Given the description of an element on the screen output the (x, y) to click on. 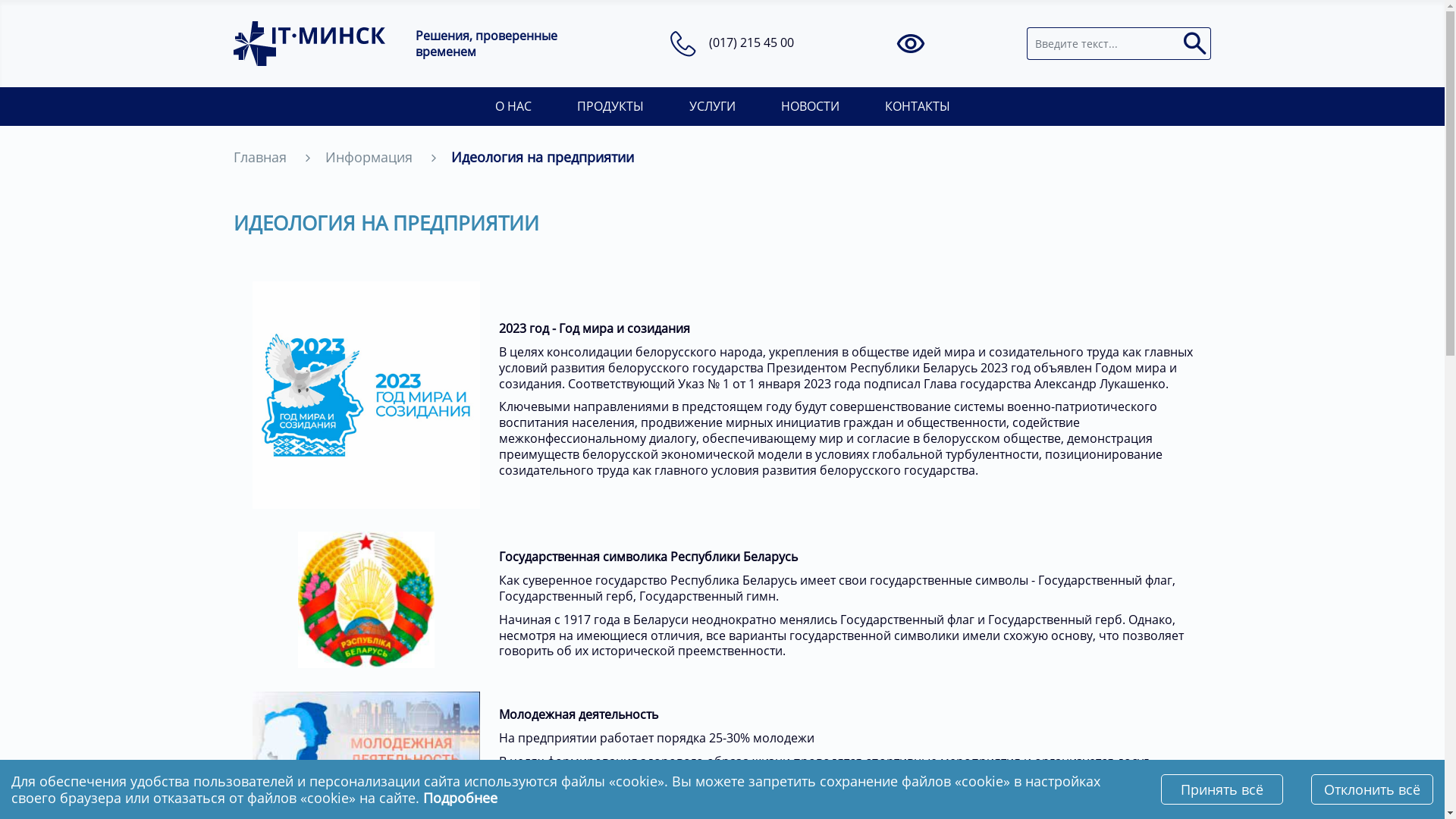
(017) 215 45 00 Element type: text (751, 42)
